Given the description of an element on the screen output the (x, y) to click on. 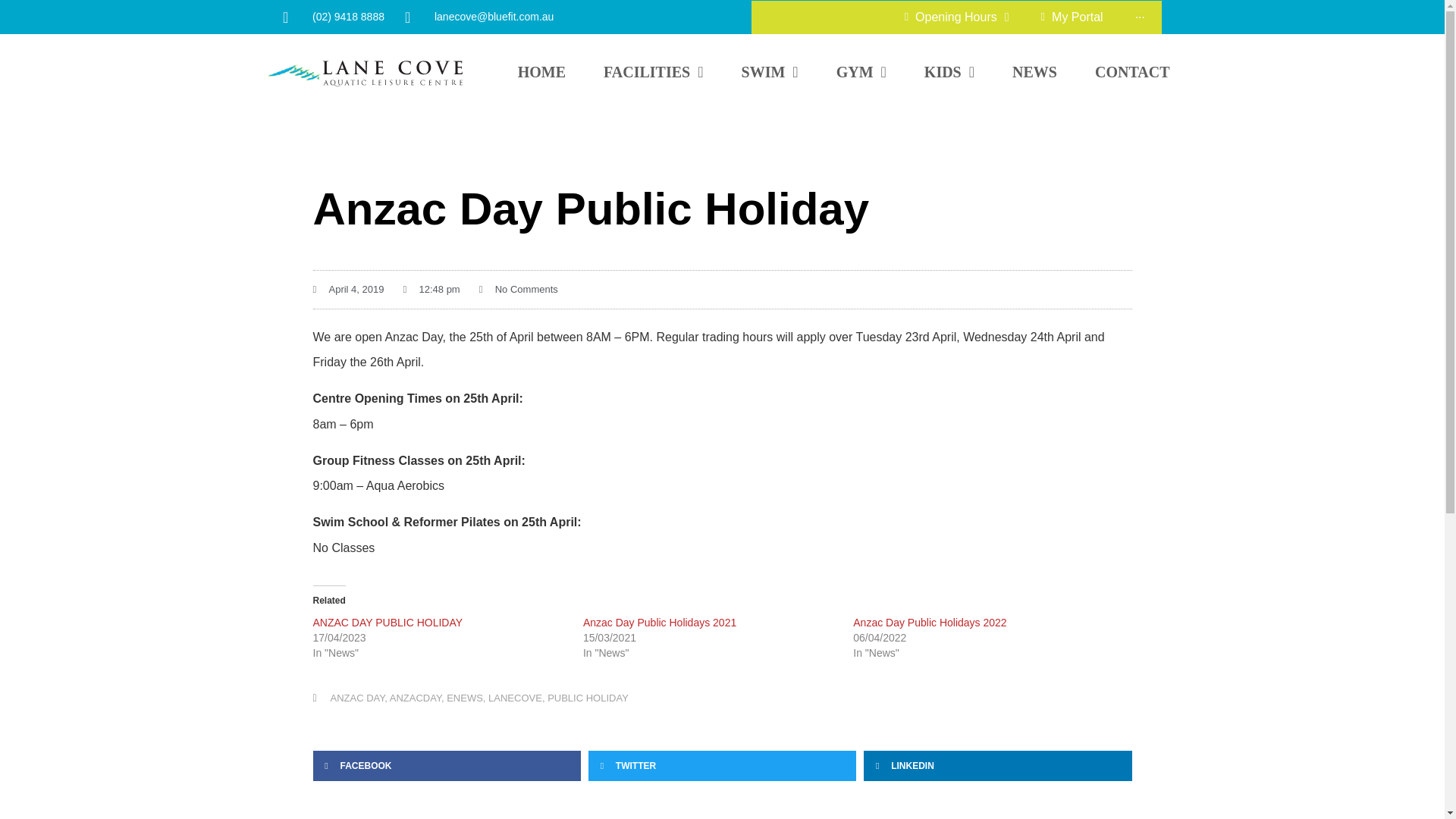
Anzac Day Public Holidays 2022 (929, 622)
My Portal (1072, 16)
SWIM (769, 71)
Anzac Day Public Holidays 2021 (659, 622)
ANZAC DAY PUBLIC HOLIDAY (388, 622)
GYM (860, 71)
Opening Hours (957, 16)
FACILITIES (652, 71)
HOME (542, 71)
